Given the description of an element on the screen output the (x, y) to click on. 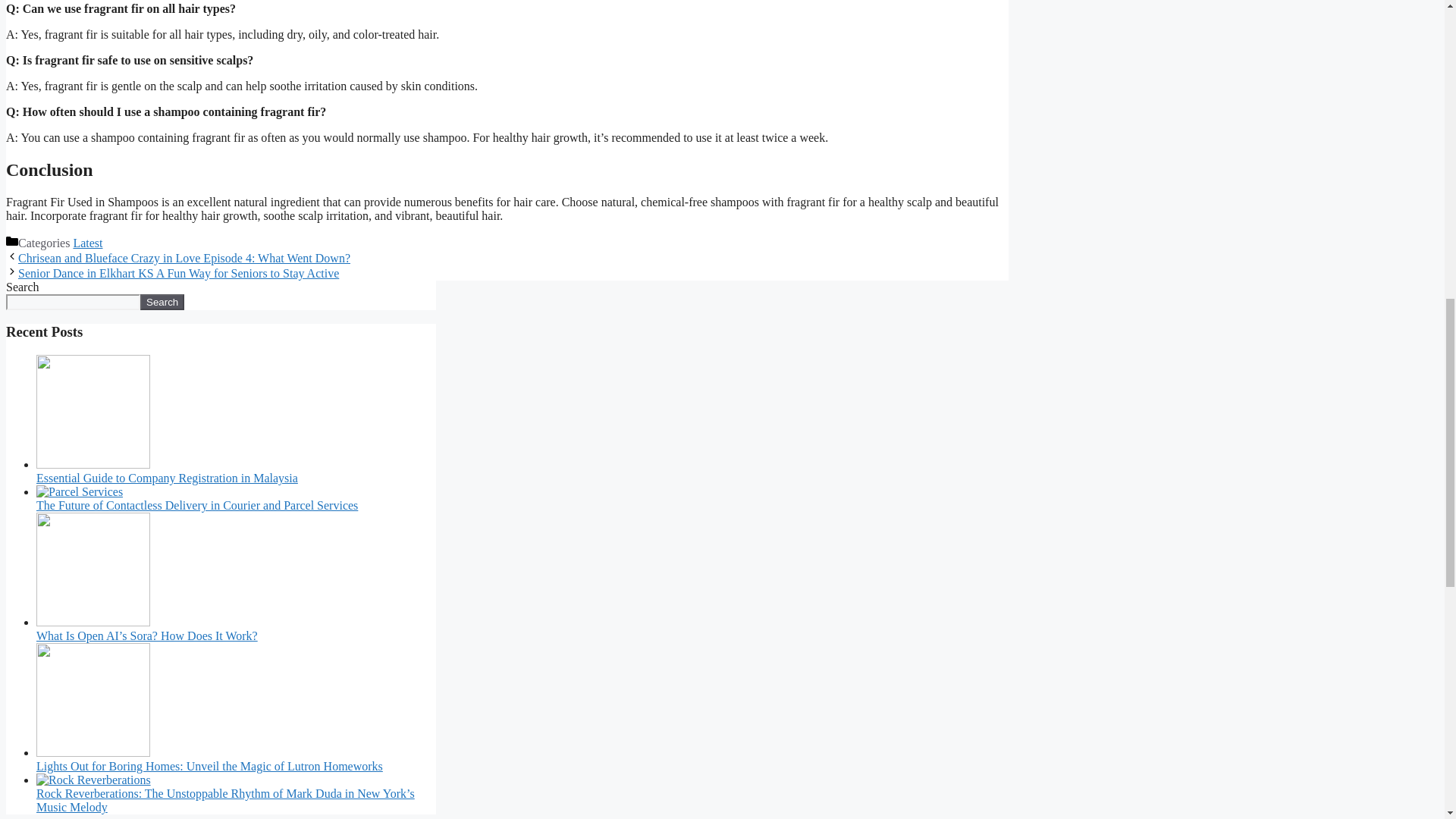
Essential Guide to Company Registration in Malaysia (167, 477)
Search (161, 302)
Latest (86, 242)
